Given the description of an element on the screen output the (x, y) to click on. 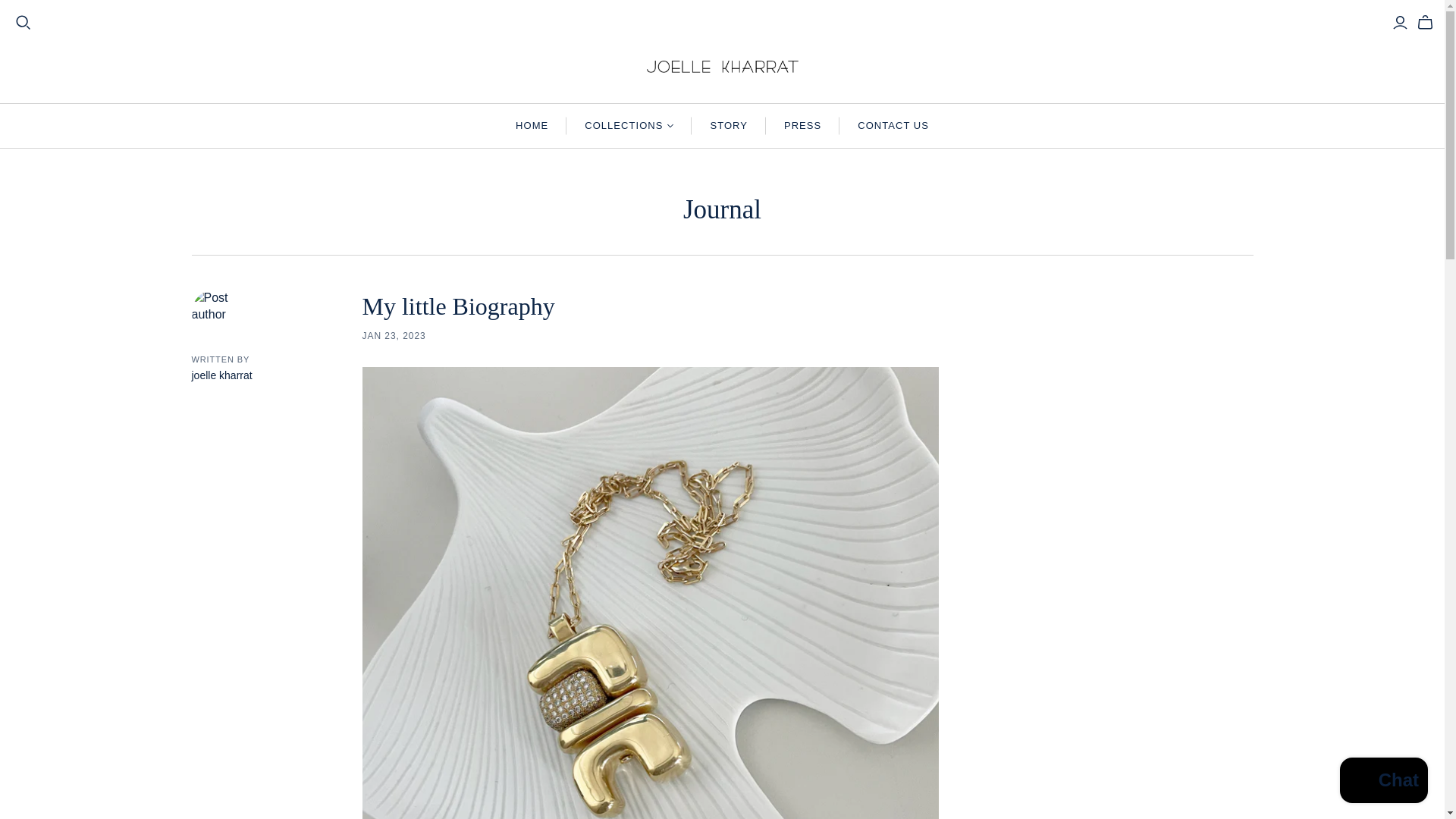
HOME (531, 126)
Shopify online store chat (1383, 781)
PRESS (802, 126)
My little Biography (458, 306)
CONTACT US (893, 126)
STORY (728, 126)
COLLECTIONS (628, 126)
